Given the description of an element on the screen output the (x, y) to click on. 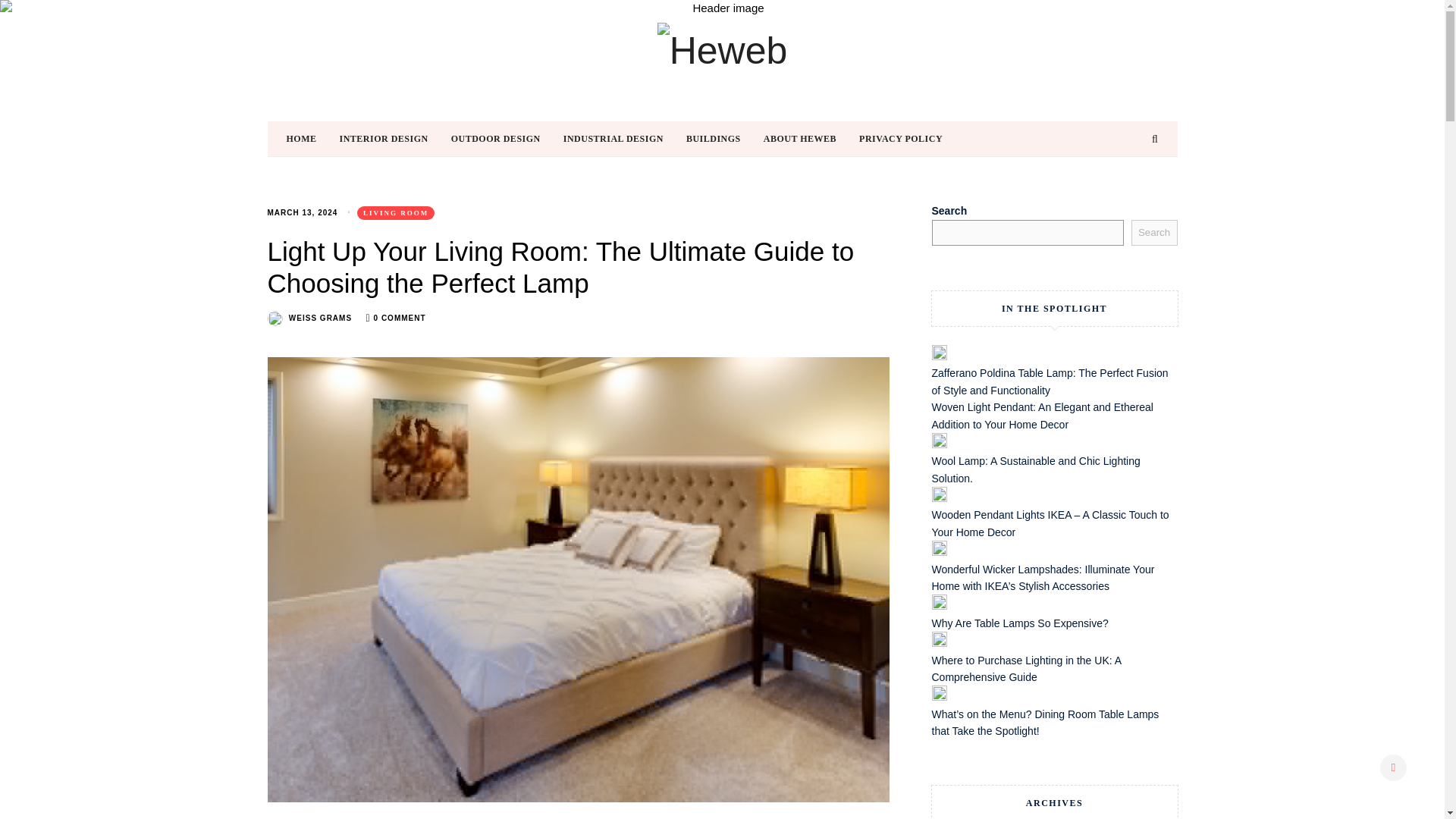
0 COMMENT (400, 317)
Wool Lamp: A Sustainable and Chic Lighting Solution. (1035, 469)
INTERIOR DESIGN (395, 138)
ABOUT HEWEB (810, 138)
HOME (312, 138)
LIVING ROOM (394, 213)
Search (1154, 232)
Posts by Weiss grams (320, 317)
WEISS GRAMS (320, 317)
